Given the description of an element on the screen output the (x, y) to click on. 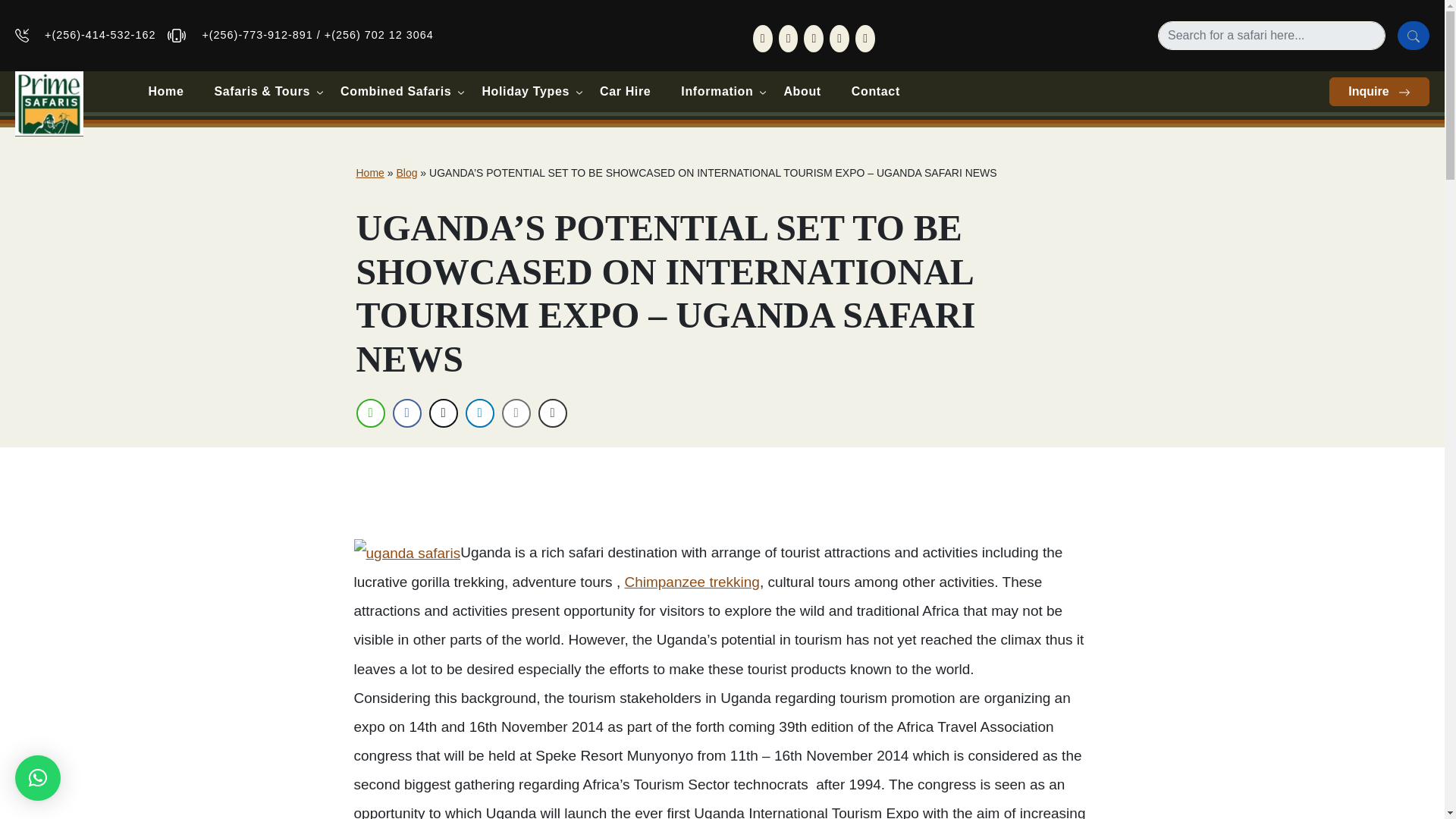
Holiday Types (525, 91)
Home (165, 91)
Combined Safaris (394, 91)
